Given the description of an element on the screen output the (x, y) to click on. 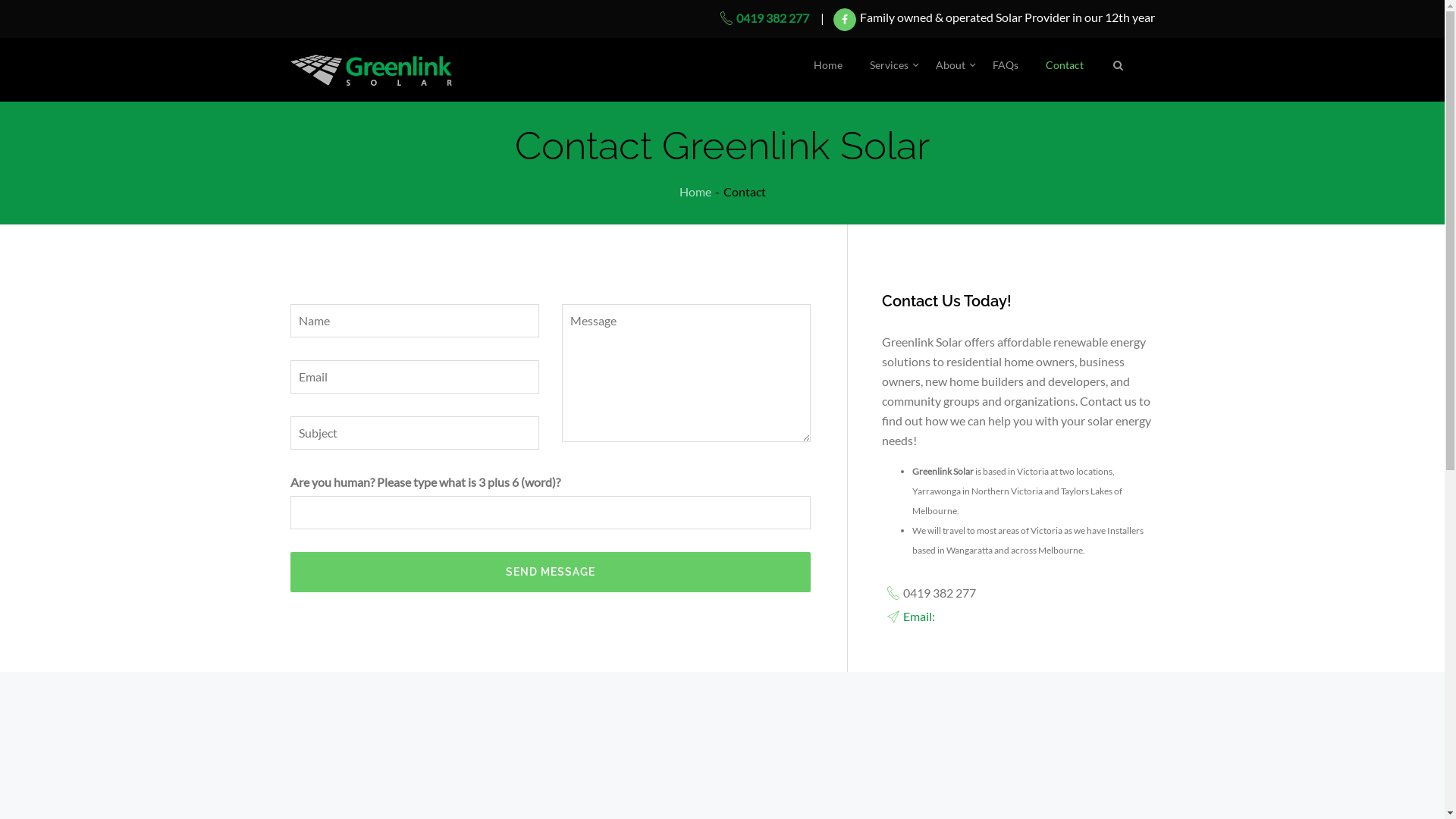
About Element type: text (950, 64)
0419 382 277 Element type: text (763, 17)
Home Element type: text (695, 191)
Send Message Element type: text (549, 571)
FAQs Element type: text (1005, 64)
Home Element type: text (828, 64)
Services Element type: text (889, 64)
Email: Element type: text (918, 615)
Contact Element type: text (1064, 64)
